Given the description of an element on the screen output the (x, y) to click on. 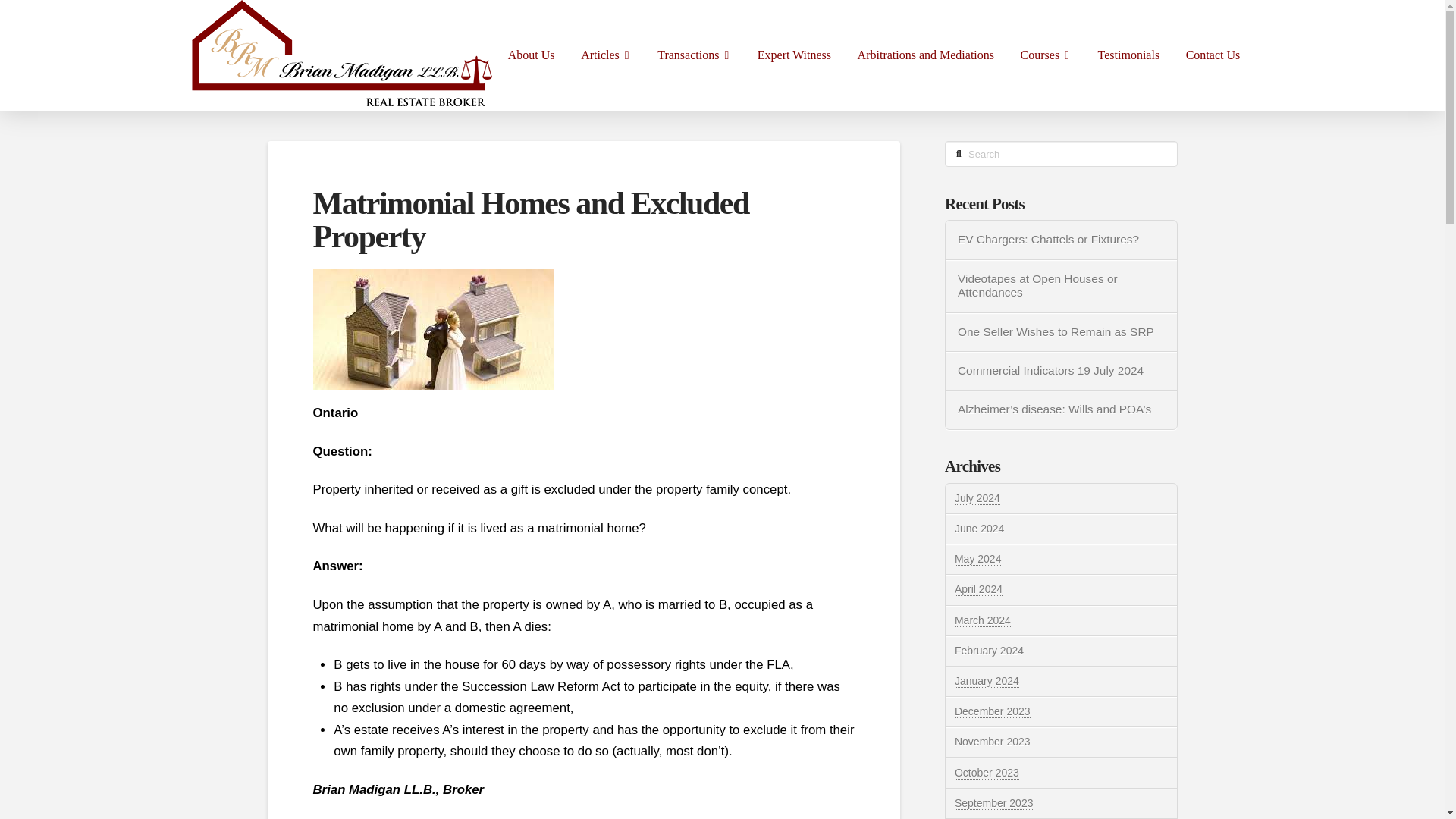
Transactions (694, 54)
About Us (531, 54)
Expert Witness (794, 54)
Arbitrations and Mediations (925, 54)
Contact Us (1212, 54)
Courses (1045, 54)
Testimonials (1128, 54)
Articles (606, 54)
